Given the description of an element on the screen output the (x, y) to click on. 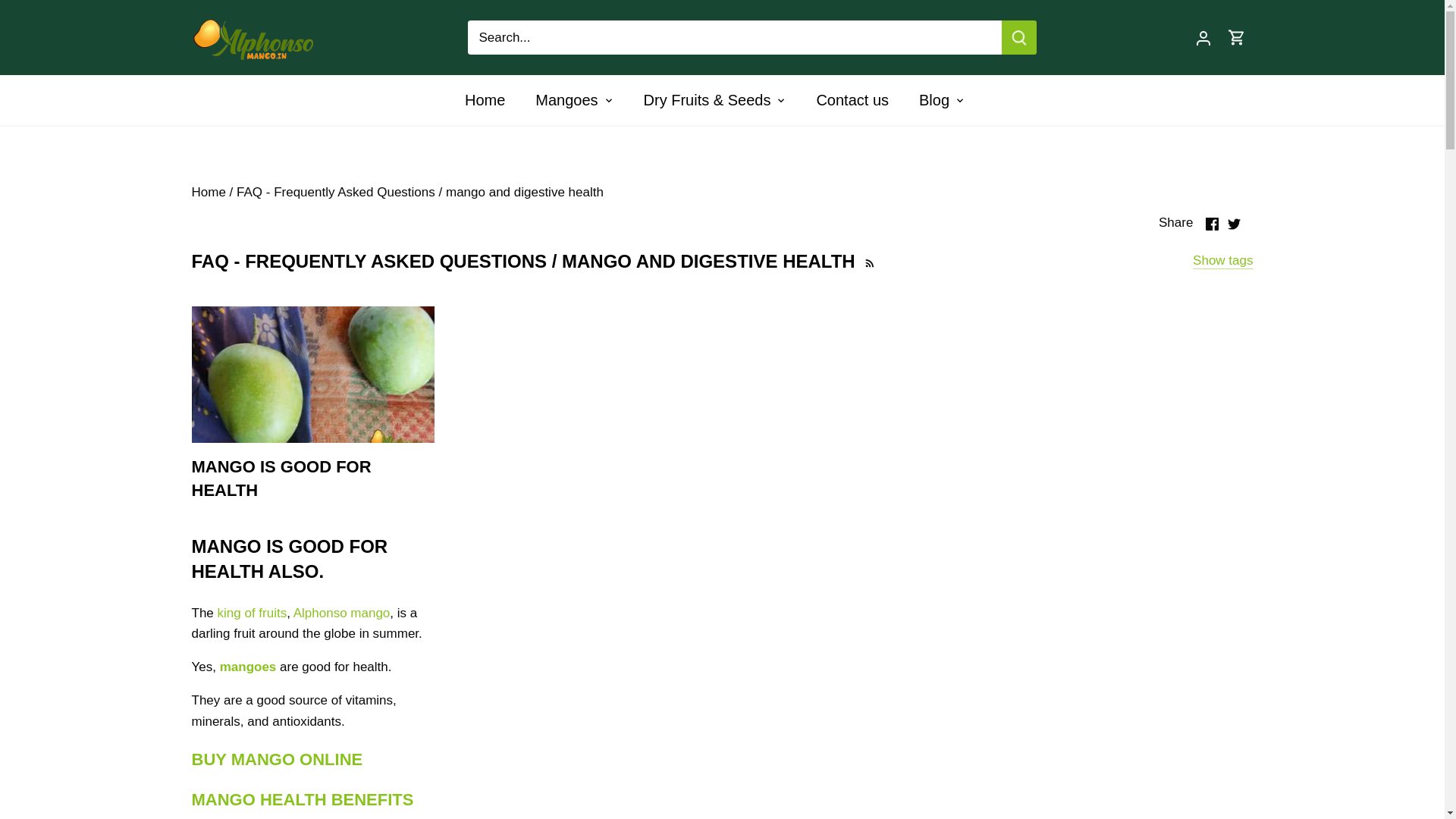
Show tags (1222, 261)
Home (491, 100)
mango and digestive health (524, 192)
FAQ - Frequently Asked Questions (335, 192)
Home (207, 192)
Contact us (852, 100)
Facebook (1211, 223)
Mangoes (565, 100)
Twitter (1233, 223)
Blog (933, 100)
